Given the description of an element on the screen output the (x, y) to click on. 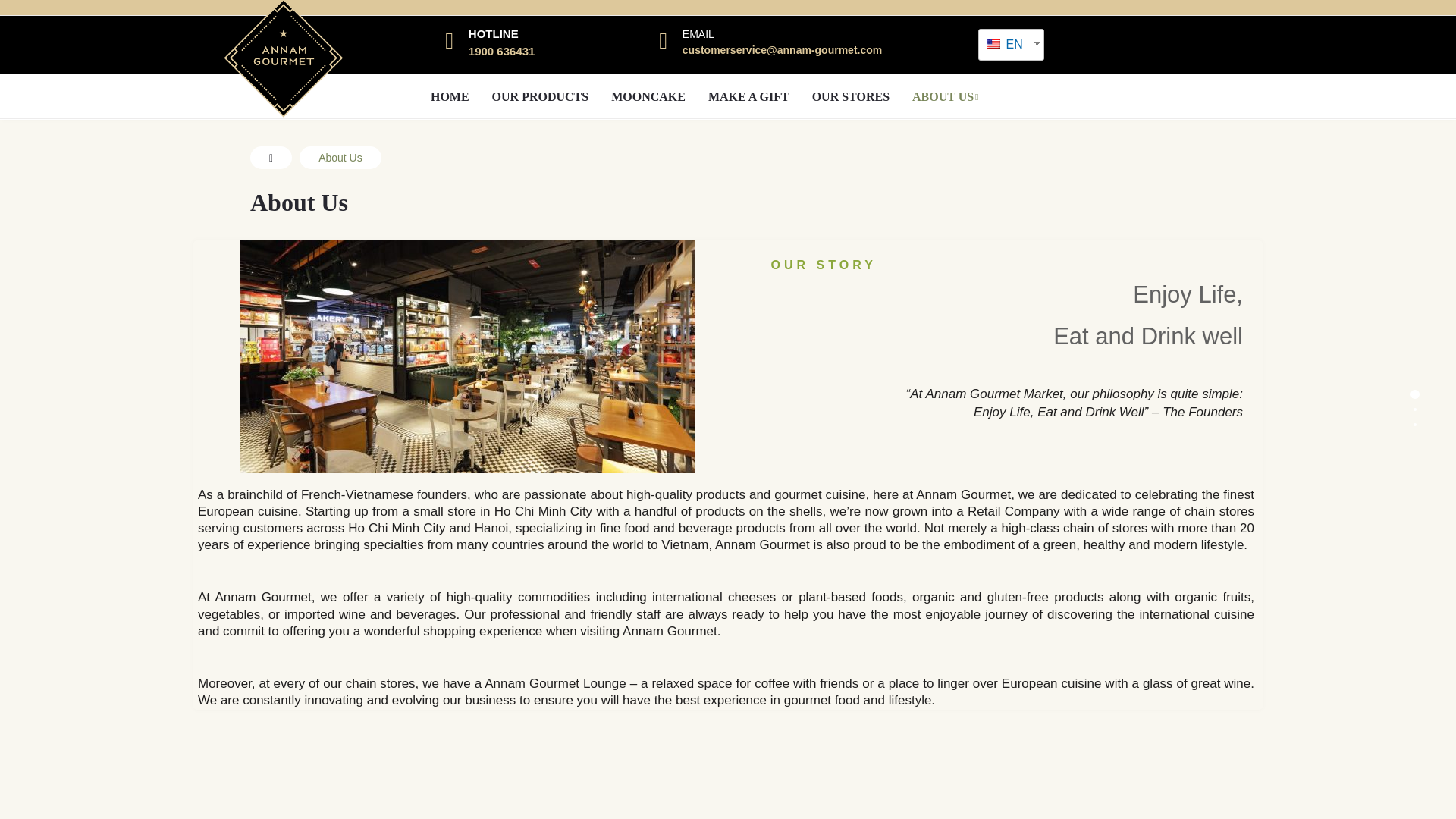
OUR STORES (850, 96)
ABOUT US (945, 96)
English (1004, 44)
OUR PRODUCTS (539, 96)
EN (1004, 44)
MOONCAKE (648, 96)
MAKE A GIFT (748, 96)
HOME (449, 96)
English (993, 43)
